Given the description of an element on the screen output the (x, y) to click on. 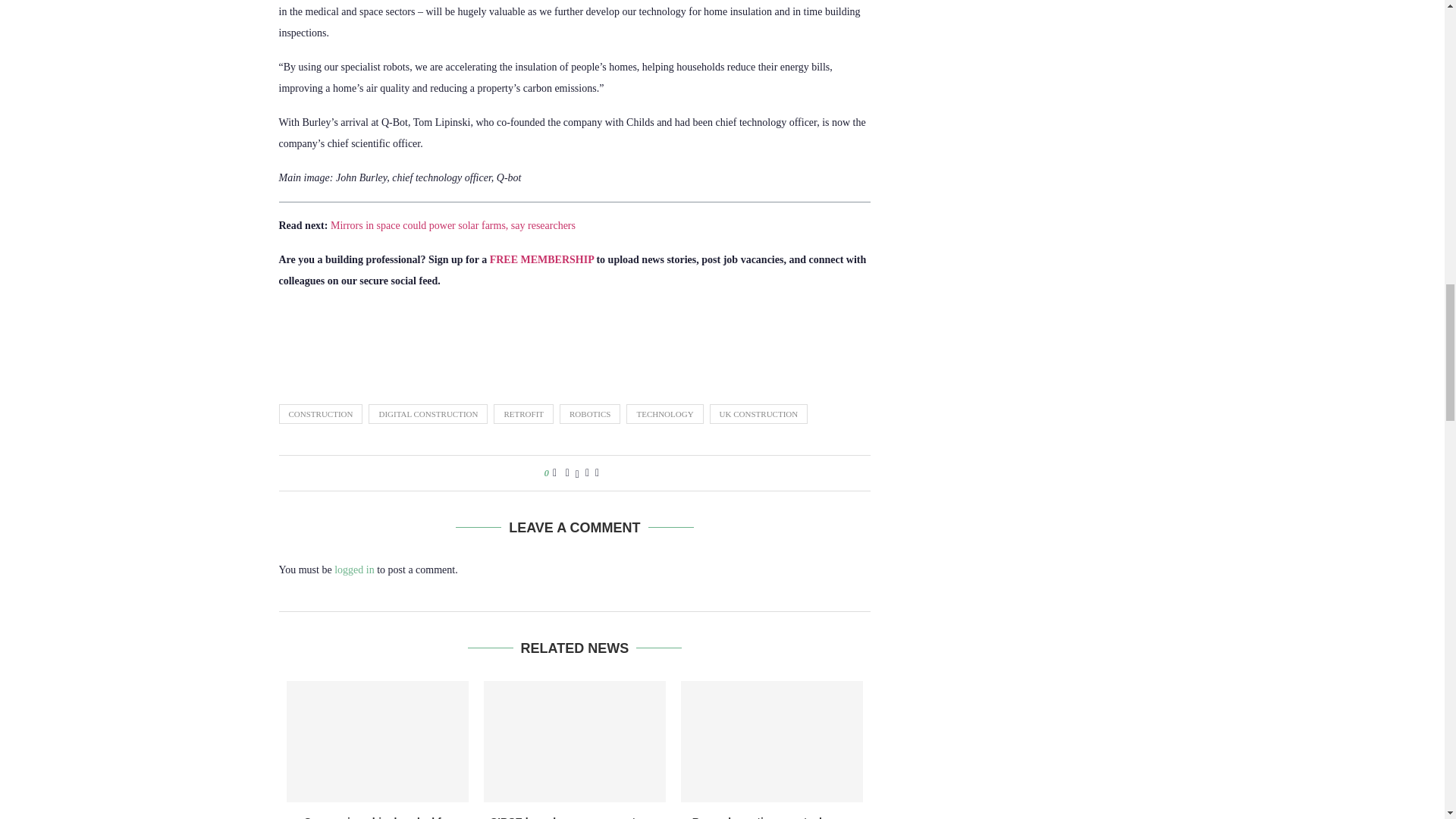
Beyond sporting spectacle, can stadiums end their isolation? (772, 741)
CIBSE launches new competency assessment tool (574, 741)
